Given the description of an element on the screen output the (x, y) to click on. 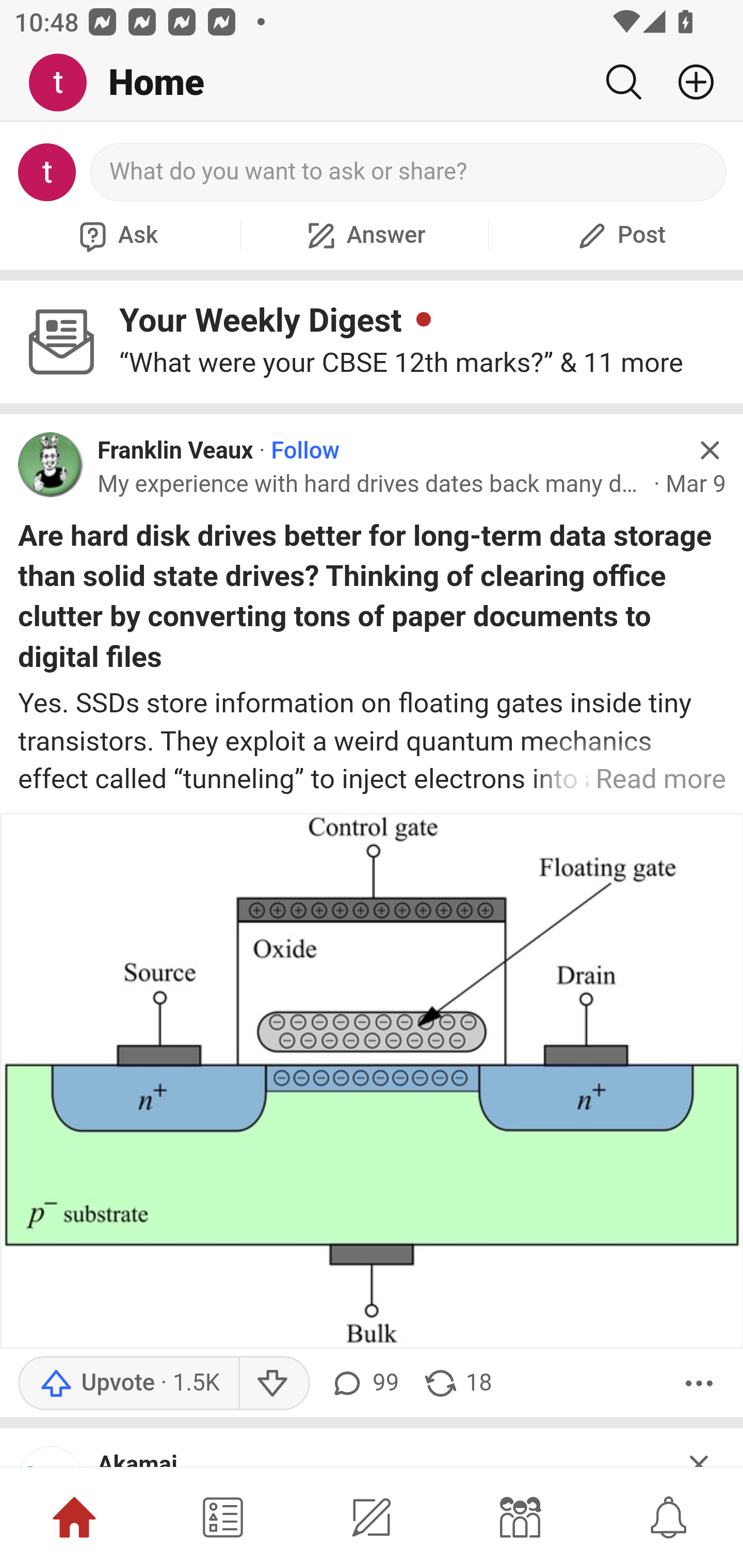
Me Home Search Add (371, 82)
Me (64, 83)
Search (623, 82)
Add (688, 82)
